Given the description of an element on the screen output the (x, y) to click on. 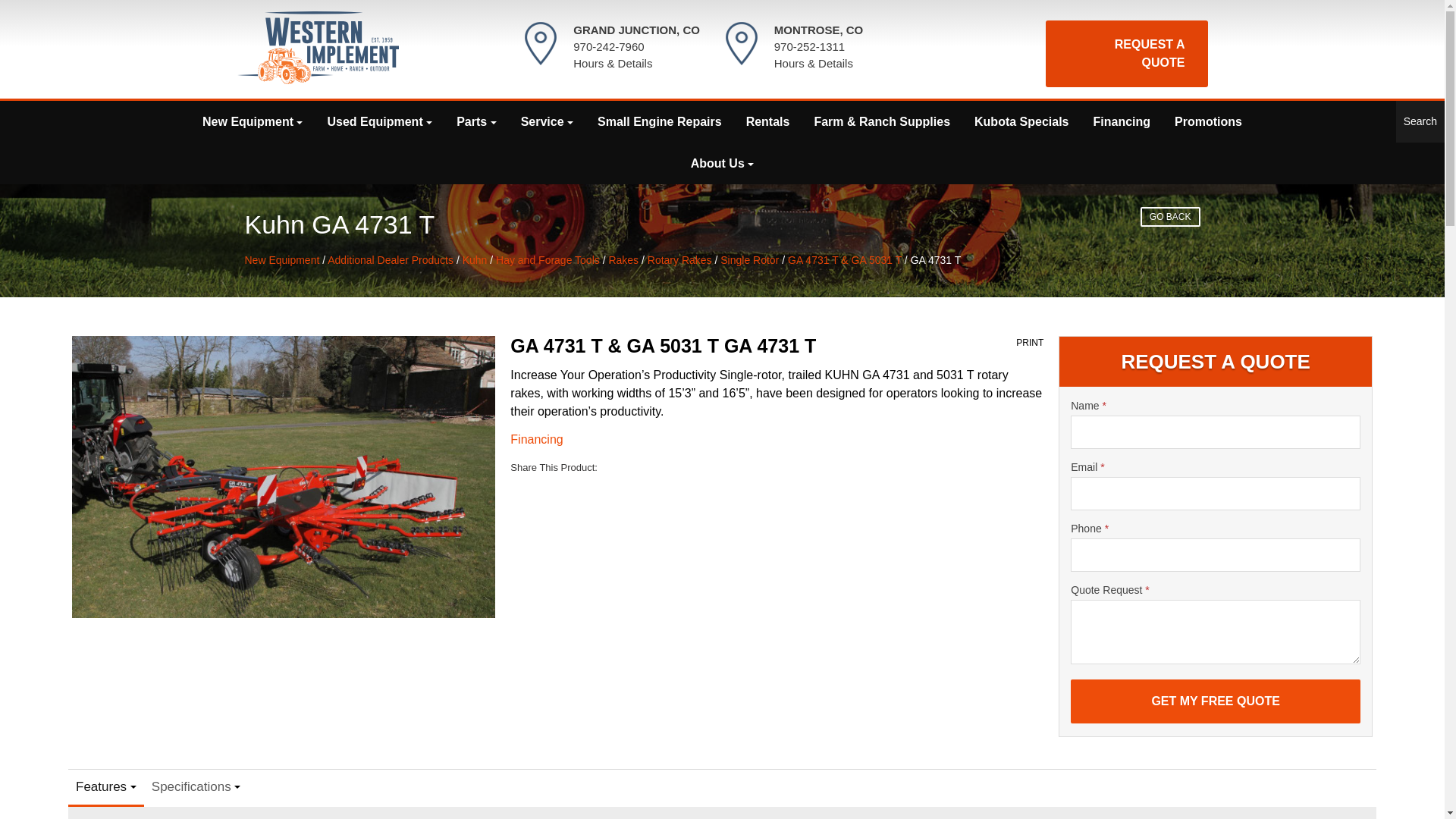
970-242-7960 (608, 46)
970-252-1311 (809, 46)
Print This Page (1029, 342)
Get My Free Quote (1214, 701)
New Equipment (252, 121)
Western Implement, Colorado (316, 47)
GRAND JUNCTION, CO (636, 29)
MONTROSE, CO (818, 29)
Kuhn GA 4731 T for sale at Western Implement, Colorado (283, 476)
REQUEST A QUOTE (1126, 53)
